Given the description of an element on the screen output the (x, y) to click on. 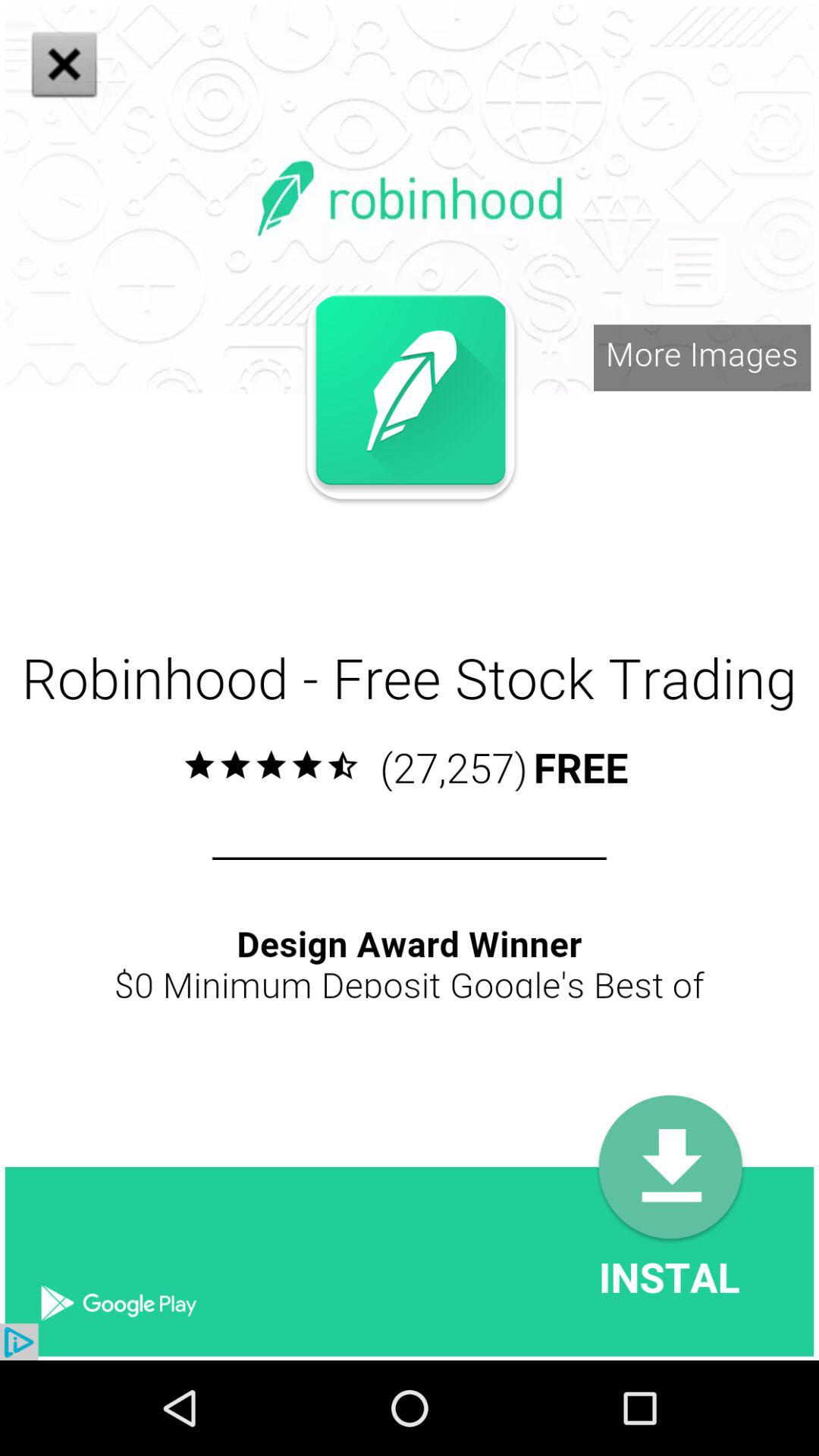
close (318, 528)
